Given the description of an element on the screen output the (x, y) to click on. 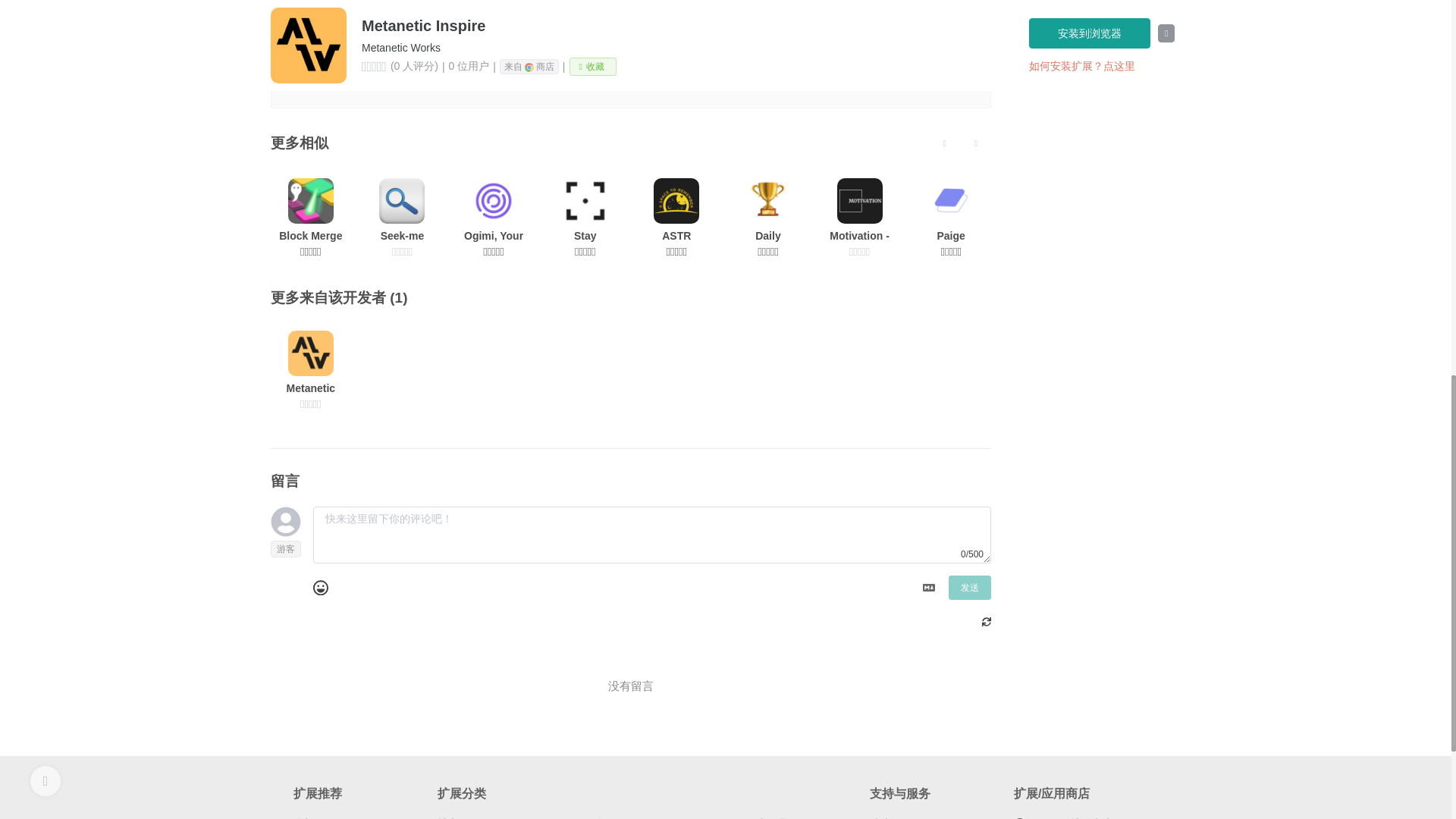
Stay Focussed (585, 217)
ASTR Browser Companion: Discover affirmations (677, 217)
Daily Inspiring Quotes (768, 217)
Seek-me (402, 217)
Ogimi, Your Personalized AI Meditation Coach (493, 217)
Paige (951, 217)
Seek-me (402, 217)
ASTR Browser Companion: Discover affirmations (677, 217)
Metanetic News (310, 369)
Ogimi, Your Personalized AI Meditation Coach (493, 217)
Stay Focussed (585, 217)
